Given the description of an element on the screen output the (x, y) to click on. 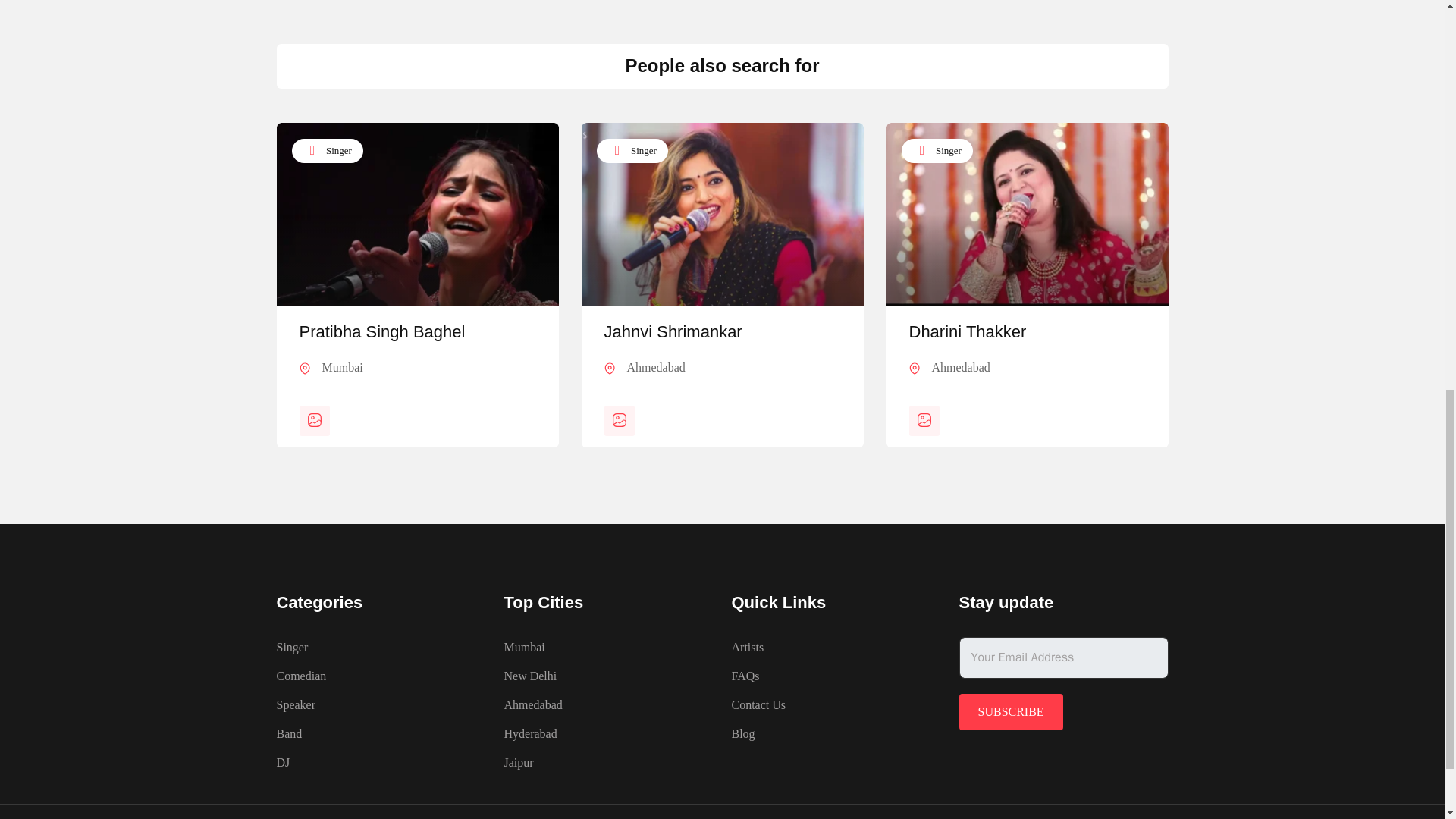
 Singer (630, 150)
Pratibha Singh Baghel (381, 332)
 Singer (936, 150)
Mumbai (341, 367)
Ahmedabad (655, 367)
Ahmedabad (960, 367)
 Singer (326, 150)
Dharini Thakker (967, 332)
Jahnvi Shrimankar (672, 332)
